Given the description of an element on the screen output the (x, y) to click on. 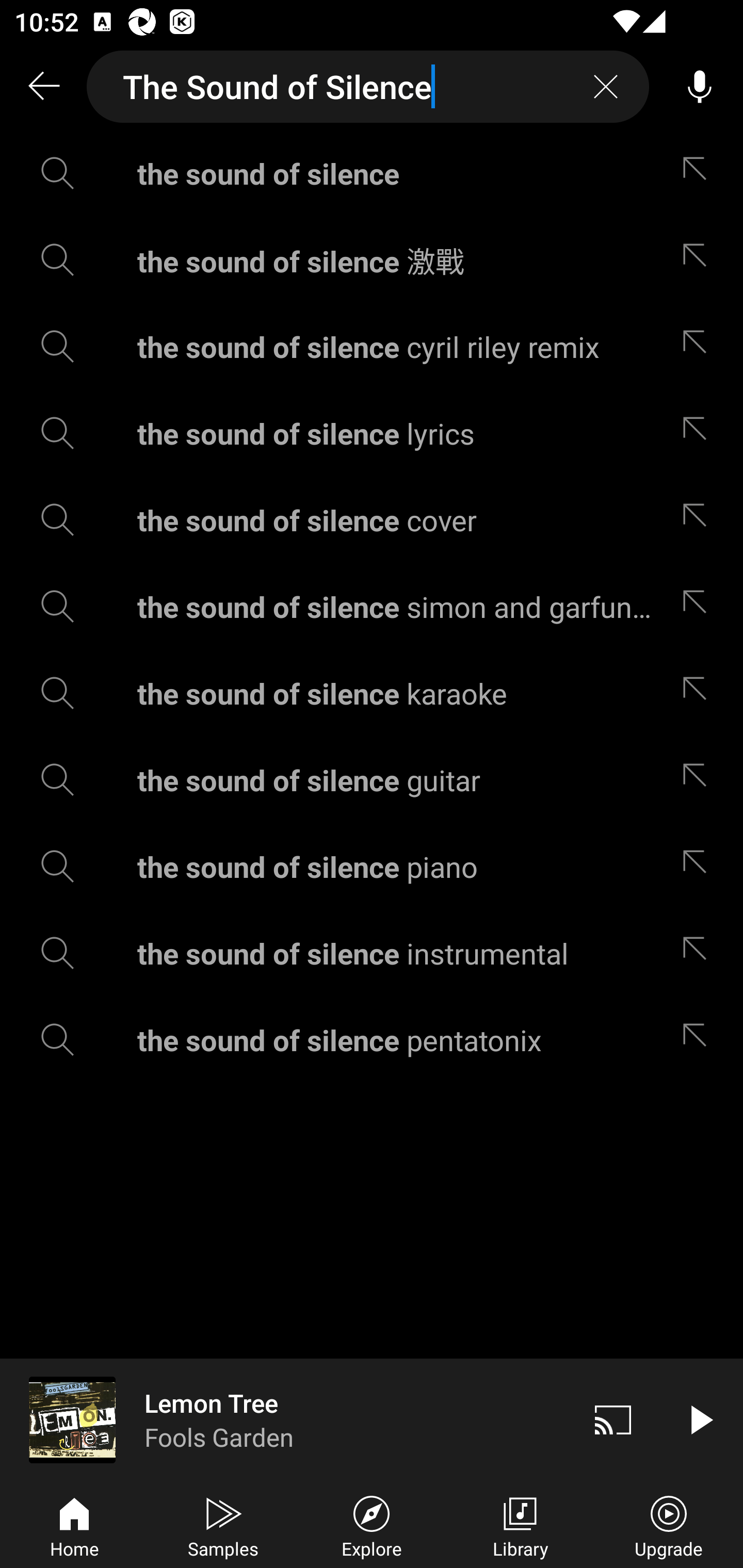
Search back (43, 86)
The Sound of Silence (367, 86)
Clear search (605, 86)
Voice search (699, 86)
Edit suggestion the sound of silence (699, 173)
Edit suggestion the sound of silence 激戰 (699, 259)
Edit suggestion the sound of silence lyrics (699, 433)
Edit suggestion the sound of silence cover (699, 519)
Edit suggestion the sound of silence karaoke (699, 692)
Edit suggestion the sound of silence guitar (699, 779)
Edit suggestion the sound of silence piano (699, 866)
Edit suggestion the sound of silence instrumental (699, 953)
Edit suggestion the sound of silence pentatonix (699, 1040)
Lemon Tree Fools Garden (284, 1419)
Cast. Disconnected (612, 1419)
Play video (699, 1419)
Home (74, 1524)
Samples (222, 1524)
Explore (371, 1524)
Library (519, 1524)
Upgrade (668, 1524)
